Given the description of an element on the screen output the (x, y) to click on. 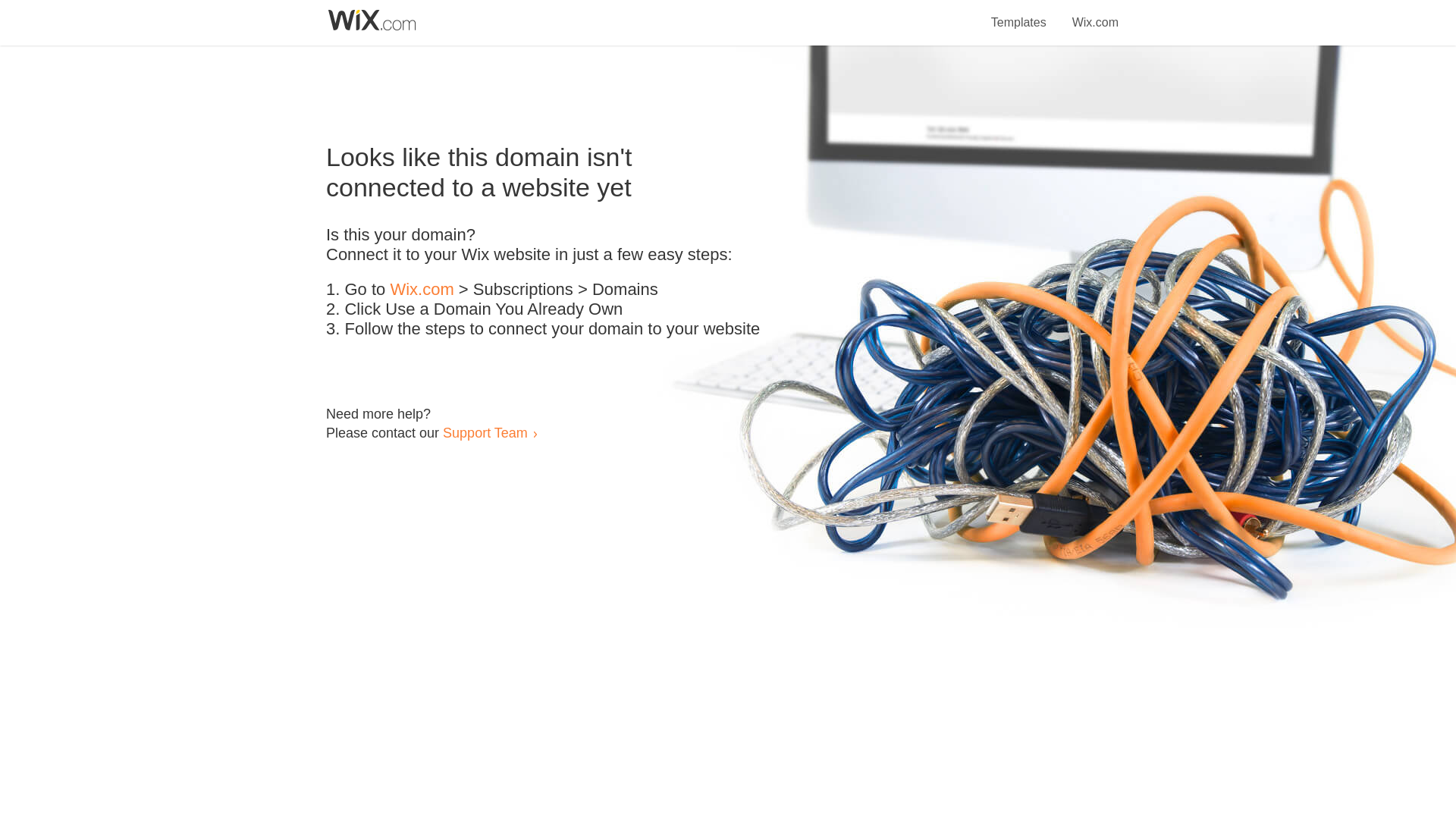
Support Team (484, 432)
Templates (1018, 14)
Wix.com (421, 289)
Wix.com (1095, 14)
